Given the description of an element on the screen output the (x, y) to click on. 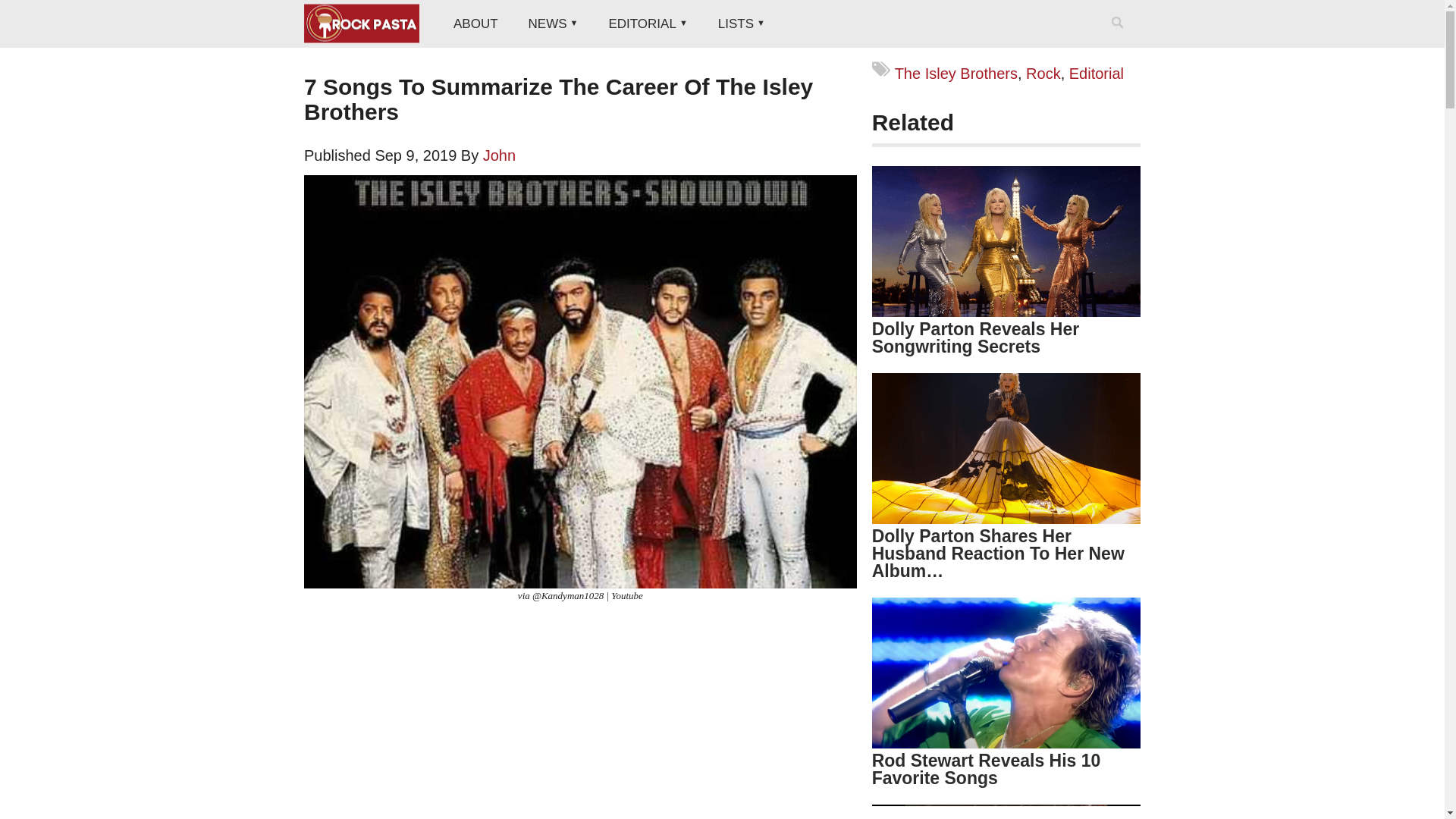
Dolly Parton Reveals Her Songwriting Secrets (976, 337)
Search (1120, 42)
The Isley Brothers (956, 73)
ABOUT (475, 23)
Search (1120, 42)
Search (1120, 42)
Rod Stewart Reveals His 10 Favorite Songs (986, 769)
Editorial (1096, 73)
John (499, 155)
Rock (1043, 73)
